Given the description of an element on the screen output the (x, y) to click on. 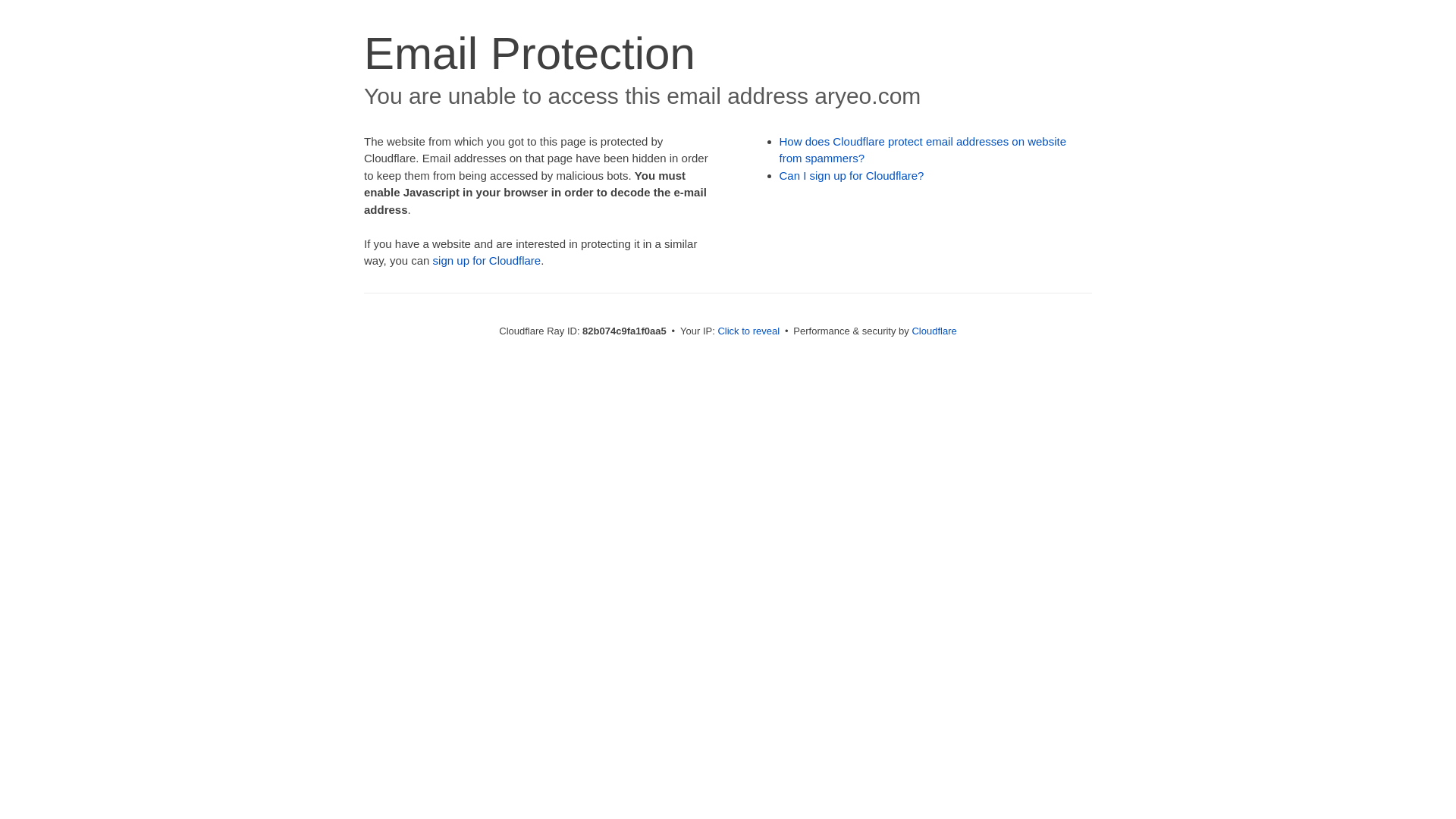
Click to reveal Element type: text (748, 330)
sign up for Cloudflare Element type: text (487, 260)
Cloudflare Element type: text (933, 330)
Can I sign up for Cloudflare? Element type: text (851, 175)
